Given the description of an element on the screen output the (x, y) to click on. 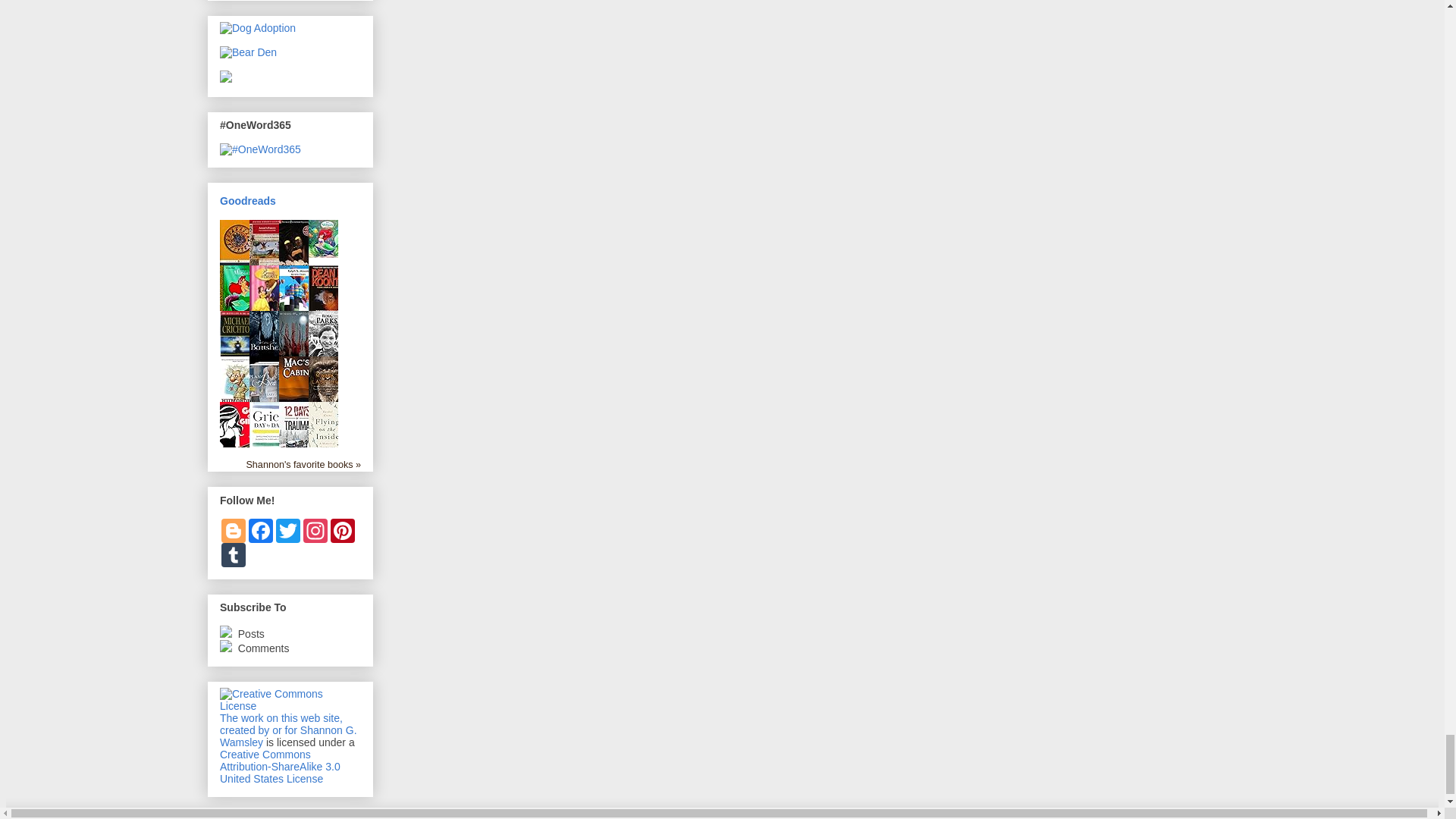
The Odyssey (238, 272)
Aesop's Fables (266, 272)
